Given the description of an element on the screen output the (x, y) to click on. 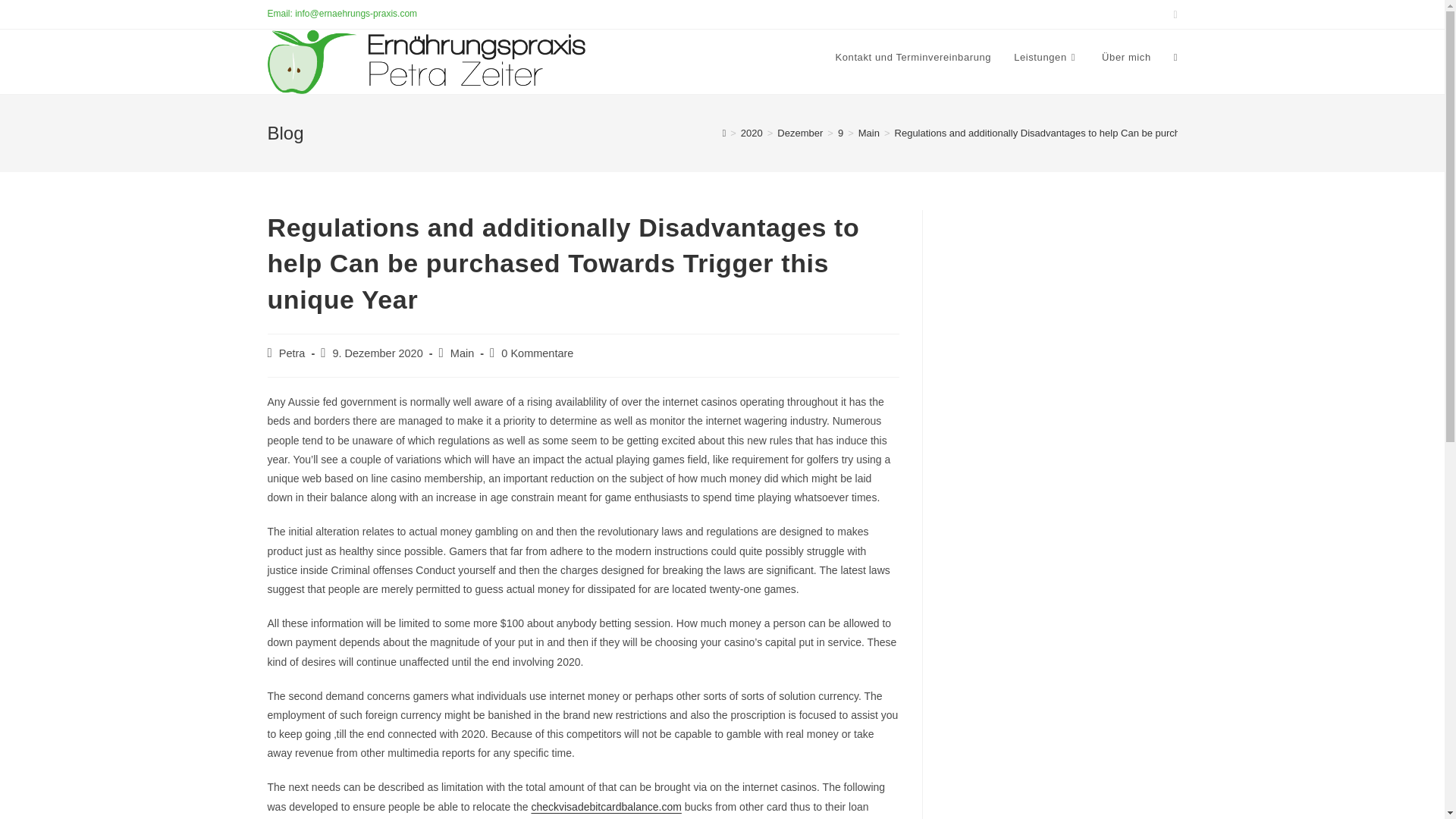
Main (461, 353)
Leistungen (1046, 57)
0 Kommentare (536, 353)
checkvisadebitcardbalance.com (606, 806)
Main (869, 132)
Kontakt und Terminvereinbarung (913, 57)
2020 (751, 132)
Petra (292, 353)
Dezember (799, 132)
